Given the description of an element on the screen output the (x, y) to click on. 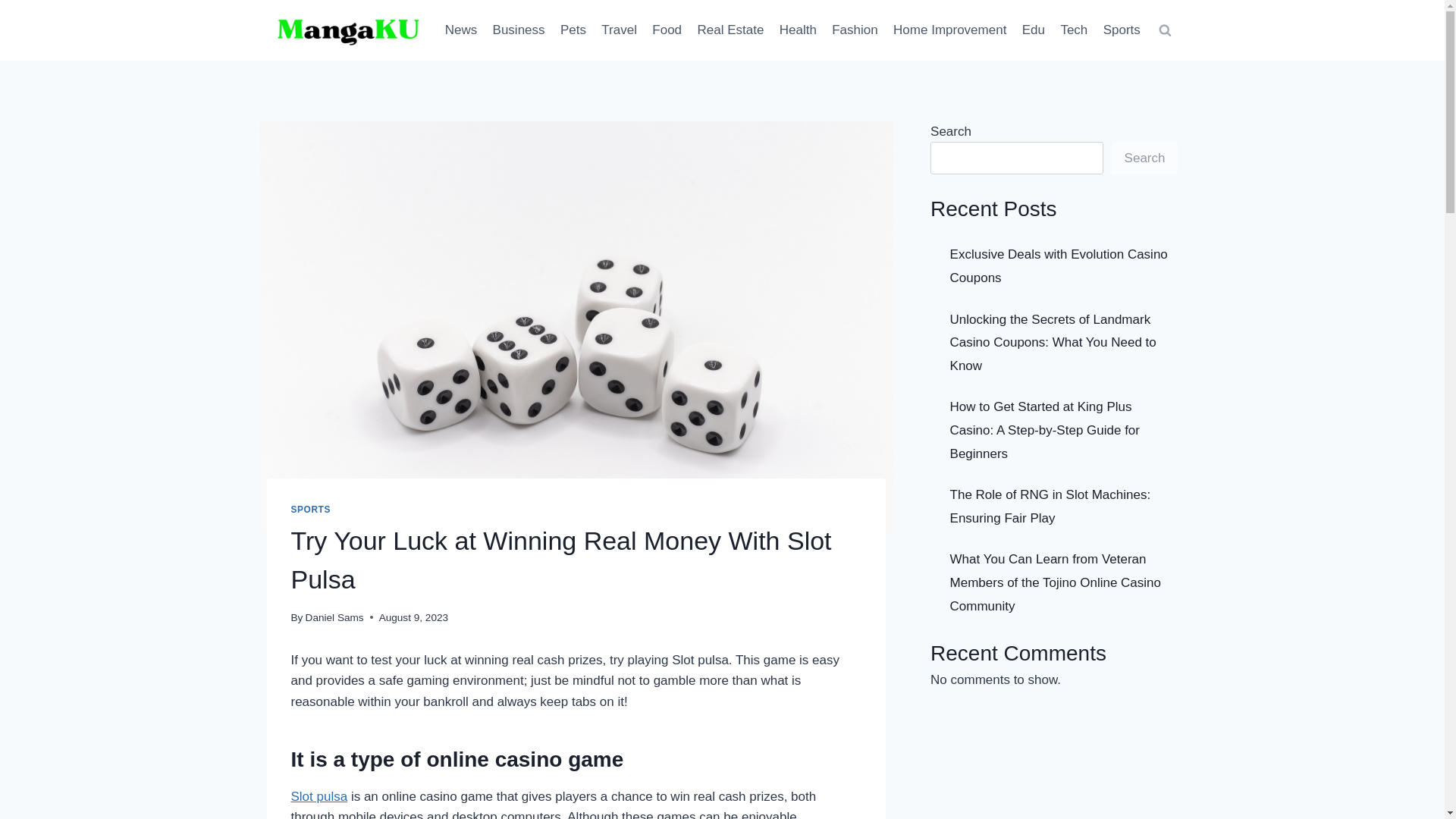
Slot pulsa (319, 796)
Business (517, 30)
Pets (573, 30)
SPORTS (310, 509)
Fashion (854, 30)
Health (798, 30)
Food (666, 30)
Sports (1121, 30)
Edu (1033, 30)
Travel (619, 30)
News (460, 30)
Daniel Sams (334, 617)
Home Improvement (949, 30)
Tech (1073, 30)
Real Estate (729, 30)
